Given the description of an element on the screen output the (x, y) to click on. 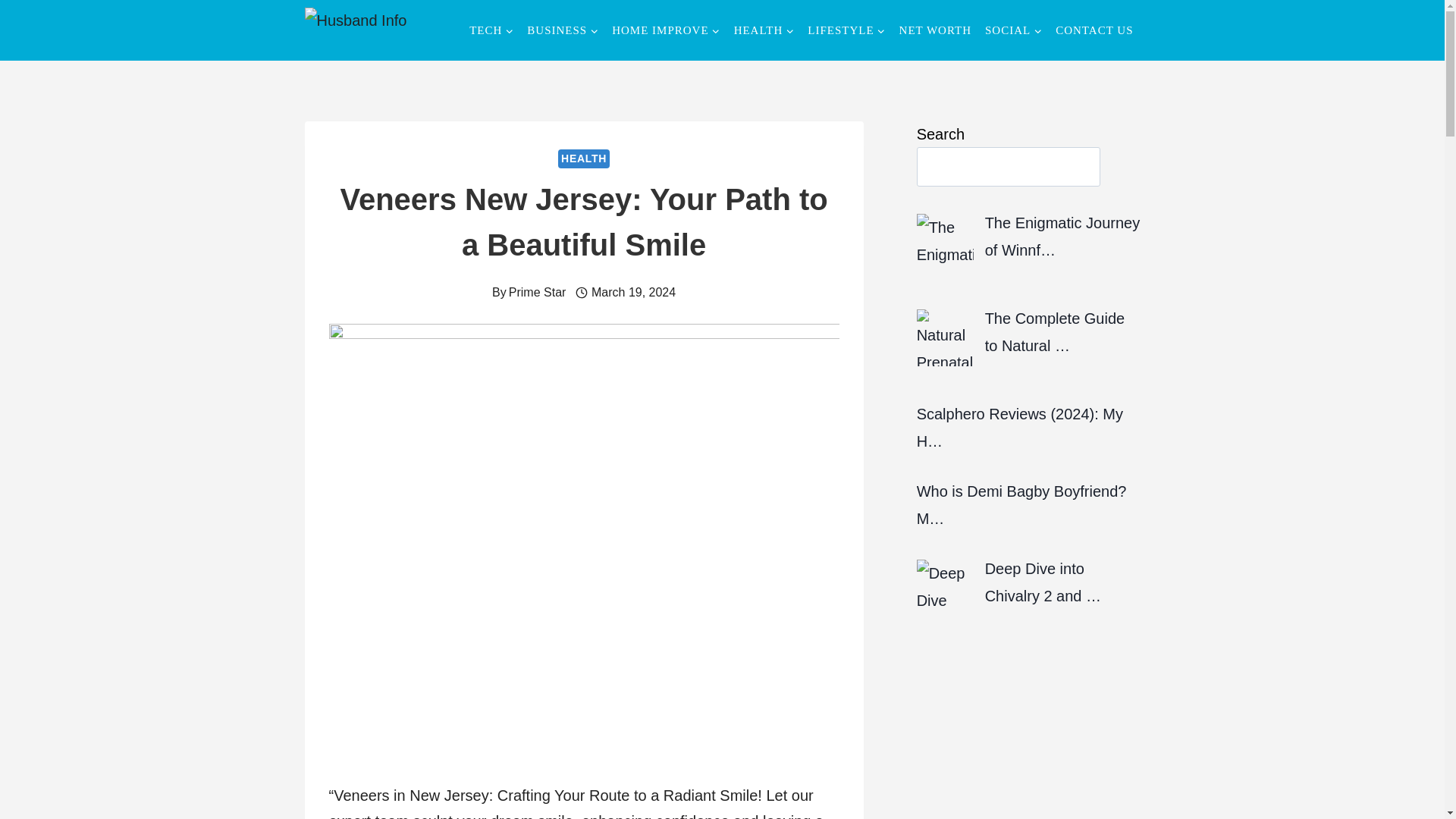
LIFESTYLE (845, 30)
TECH (491, 30)
HEALTH (764, 30)
BUSINESS (562, 30)
HOME IMPROVE (665, 30)
